Given the description of an element on the screen output the (x, y) to click on. 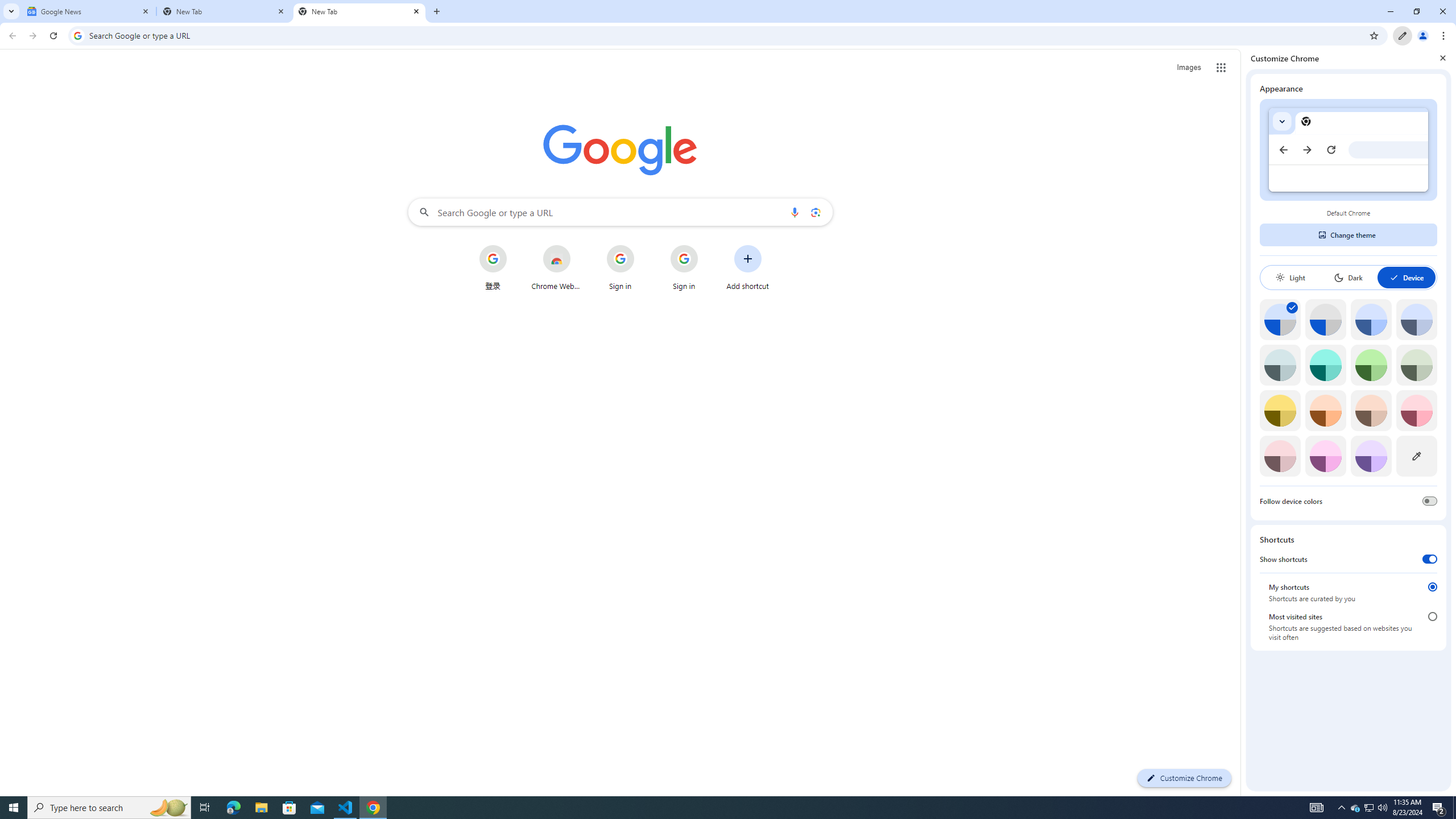
My shortcuts (1432, 586)
AutomationID: svg (1292, 307)
AutomationID: baseSvg (1394, 276)
Green (1371, 364)
Violet (1371, 455)
Most visited sites (1432, 615)
Viridian (1416, 364)
Citron (1279, 409)
Follow device colors (1429, 500)
